Given the description of an element on the screen output the (x, y) to click on. 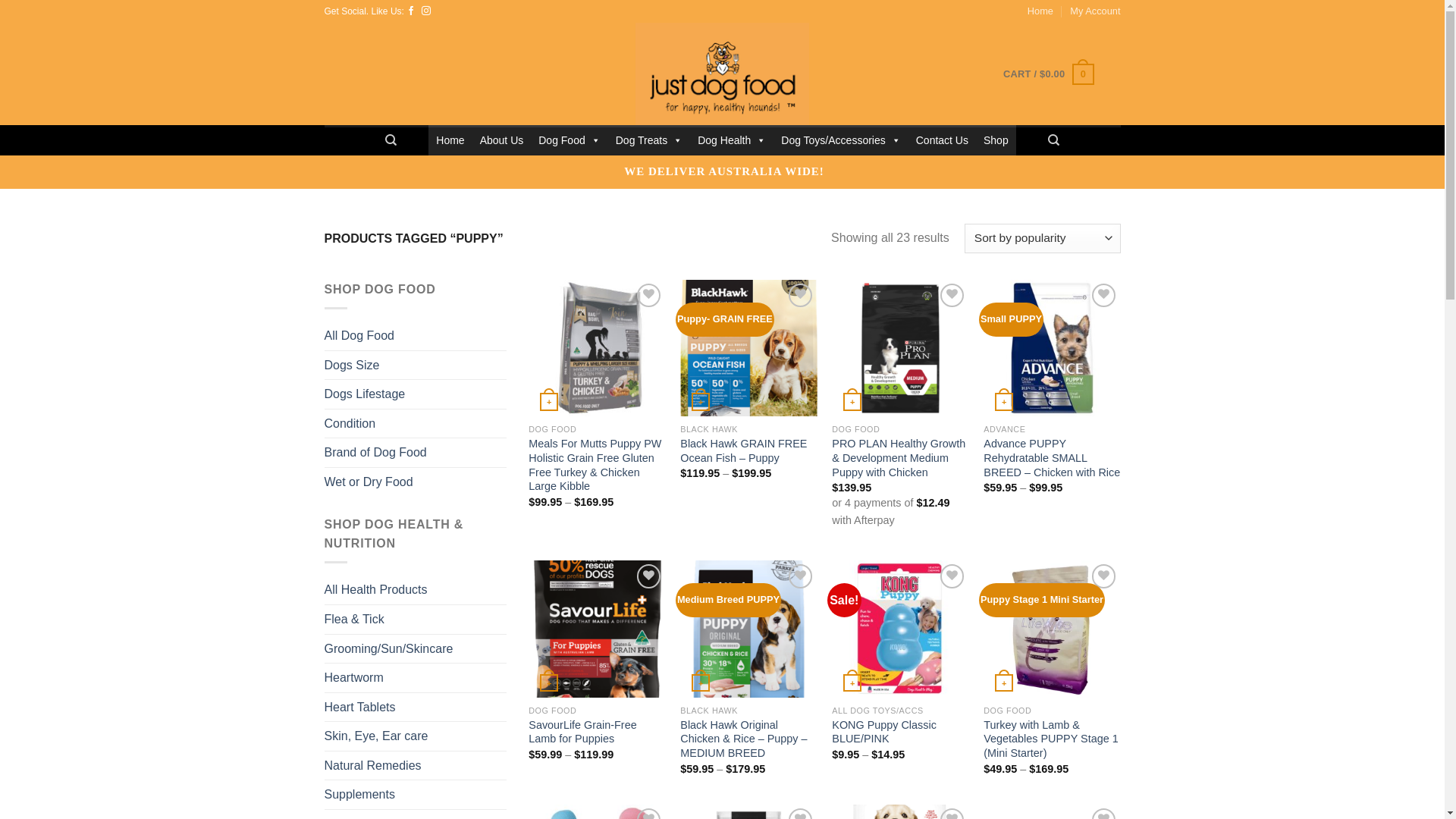
Home Element type: text (449, 140)
Follow on Facebook Element type: hover (410, 11)
WE DELIVER AUSTRALIA WIDE! Element type: text (724, 171)
Dog Food Element type: text (568, 140)
Contact Us Element type: text (941, 140)
Heartworm Element type: text (353, 677)
Condition Element type: text (350, 423)
Just Dog Food Element type: hover (722, 73)
Flea & Tick Element type: text (354, 619)
CART / $0.00
0 Element type: text (1048, 74)
SavourLife Grain-Free Lamb for Puppies Element type: text (596, 732)
Dogs Size Element type: text (351, 365)
Dog Treats Element type: text (649, 140)
Turkey with Lamb & Vegetables PUPPY Stage 1 (Mini Starter) Element type: text (1051, 739)
Skin, Eye, Ear care Element type: text (376, 735)
About Us Element type: text (501, 140)
KONG Puppy Classic BLUE/PINK Element type: text (899, 732)
Shop Element type: text (995, 140)
Dog Toys/Accessories Element type: text (840, 140)
Wet or Dry Food Element type: text (368, 481)
All Dog Food Element type: text (359, 335)
Brand of Dog Food Element type: text (375, 452)
Heart Tablets Element type: text (359, 707)
Dog Health Element type: text (731, 140)
Natural Remedies Element type: text (372, 765)
Follow on Instagram Element type: hover (425, 11)
Supplements Element type: text (359, 794)
Home Element type: text (1040, 11)
Dogs Lifestage Element type: text (364, 393)
Grooming/Sun/Skincare Element type: text (388, 647)
All Health Products Element type: text (375, 589)
My Account Element type: text (1095, 11)
